Given the description of an element on the screen output the (x, y) to click on. 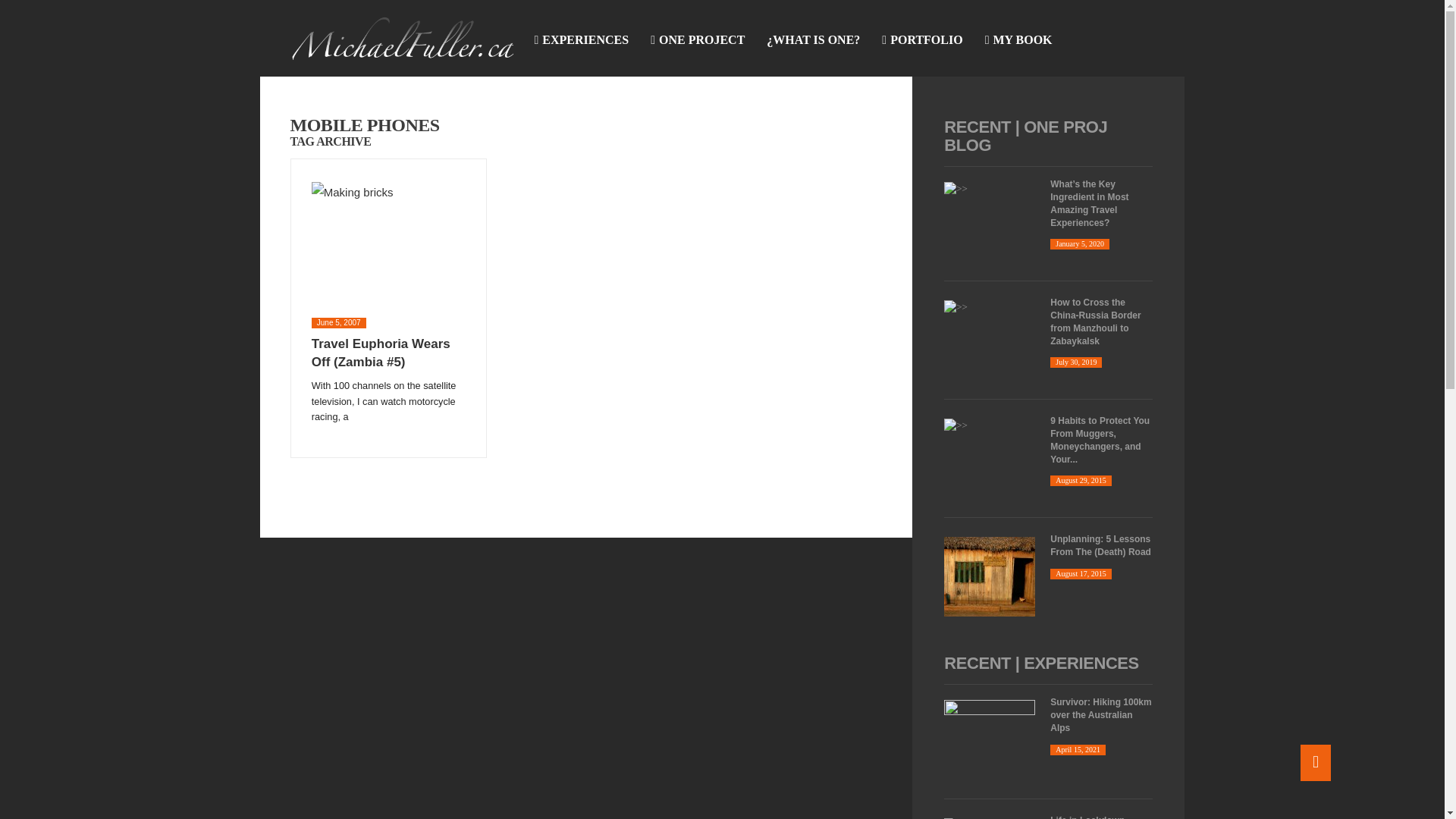
PORTFOLIO (921, 39)
ONE PROJECT (698, 39)
MY BOOK (1018, 39)
EXPERIENCES (580, 39)
